Given the description of an element on the screen output the (x, y) to click on. 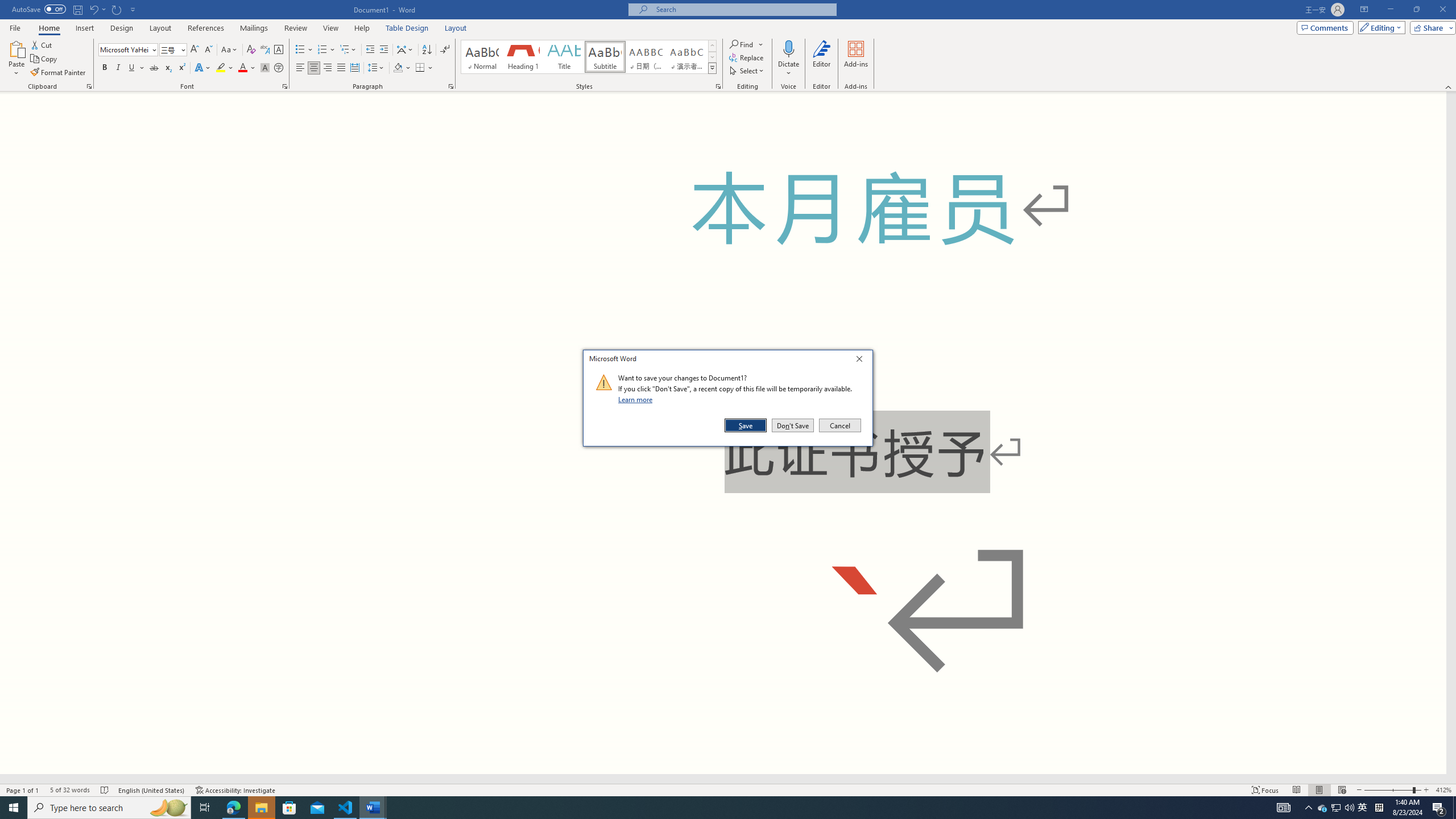
Microsoft Edge - 1 running window (233, 807)
Editing (1379, 27)
Undo Grow Font (96, 9)
Text Highlight Color (224, 67)
AutomationID: QuickStylesGallery (588, 56)
Show desktop (1454, 807)
Word Count 5 of 32 words (1322, 807)
